Given the description of an element on the screen output the (x, y) to click on. 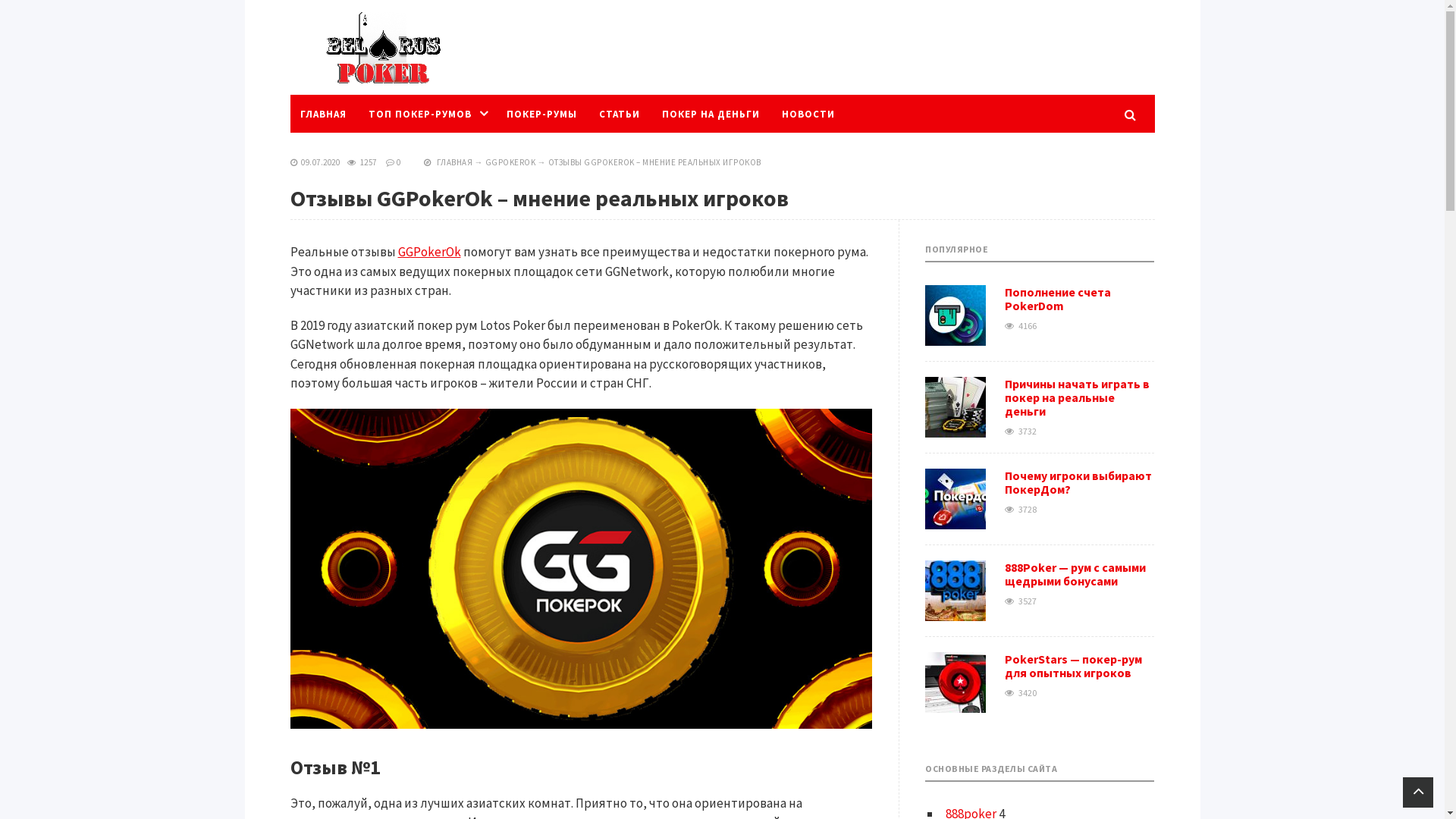
0 Element type: text (398, 161)
GGPOKEROK Element type: text (510, 161)
GGPokerOk Element type: text (428, 251)
